Given the description of an element on the screen output the (x, y) to click on. 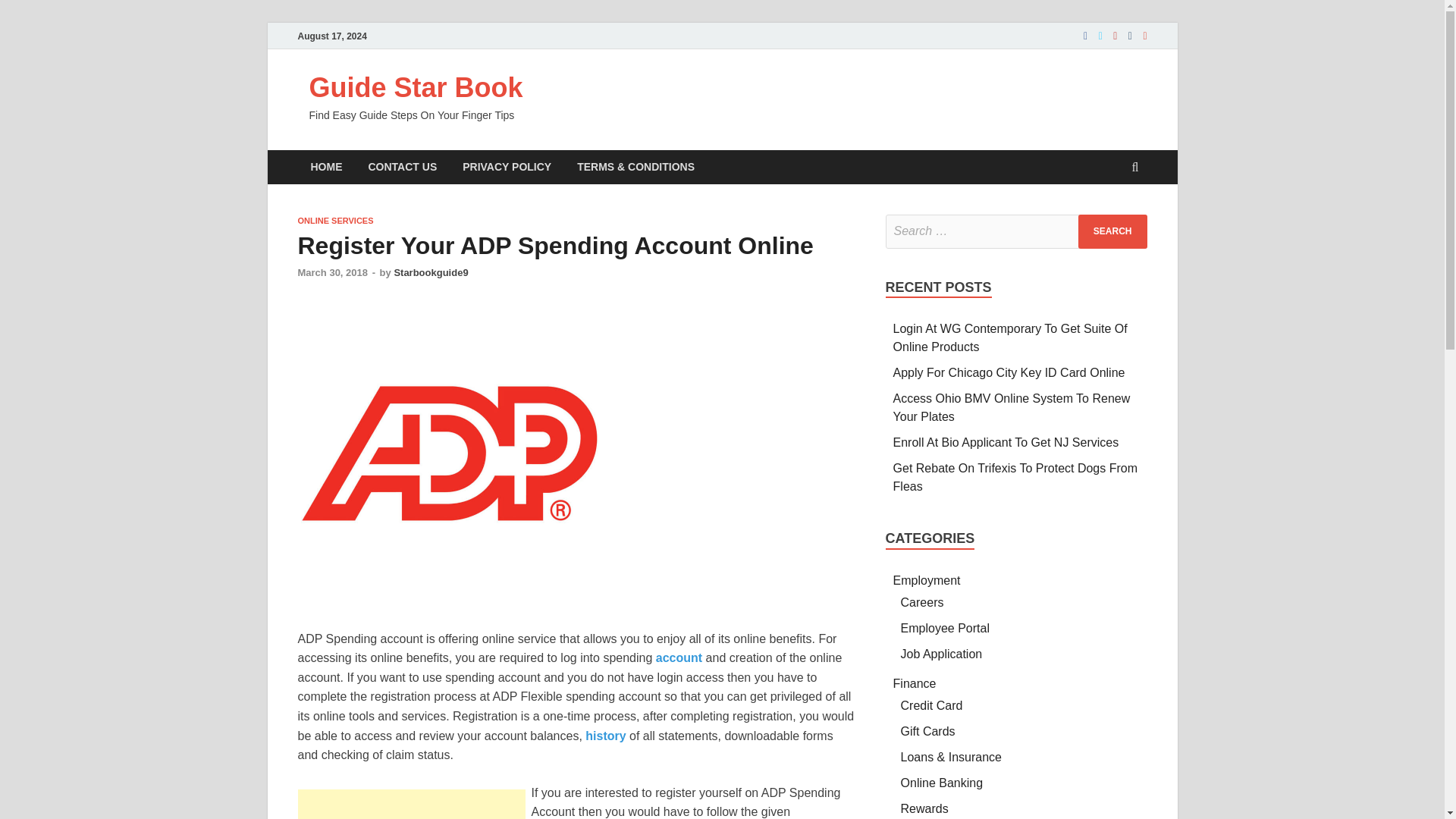
March 30, 2018 (332, 272)
CONTACT US (402, 166)
Enroll At Bio Applicant To Get NJ Services (1006, 441)
Search (1112, 231)
Employment (926, 580)
Advertisement (410, 804)
history (605, 735)
Search (1112, 231)
Access Ohio BMV Online System To Renew Your Plates (1012, 407)
Login At WG Contemporary To Get Suite Of Online Products (1009, 337)
